Given the description of an element on the screen output the (x, y) to click on. 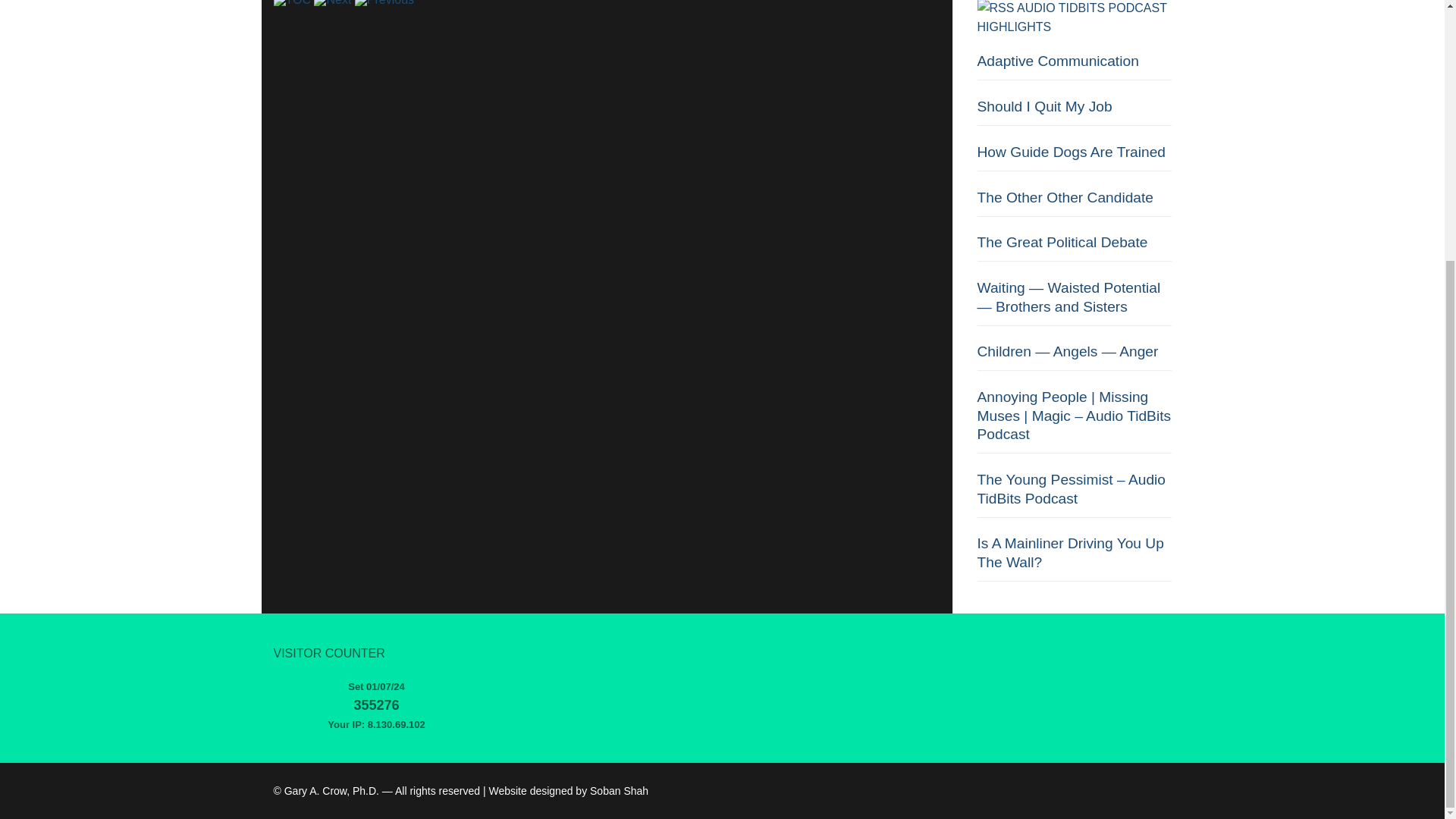
The Other Other Candidate (1073, 203)
AUDIO TIDBITS PODCAST HIGHLIGHTS (1071, 17)
The Great Political Debate (1073, 247)
Adaptive Communication (1073, 66)
How Guide Dogs Are Trained (1073, 157)
Is A Mainliner Driving You Up The Wall? (1073, 557)
Should I Quit My Job (1073, 111)
